Given the description of an element on the screen output the (x, y) to click on. 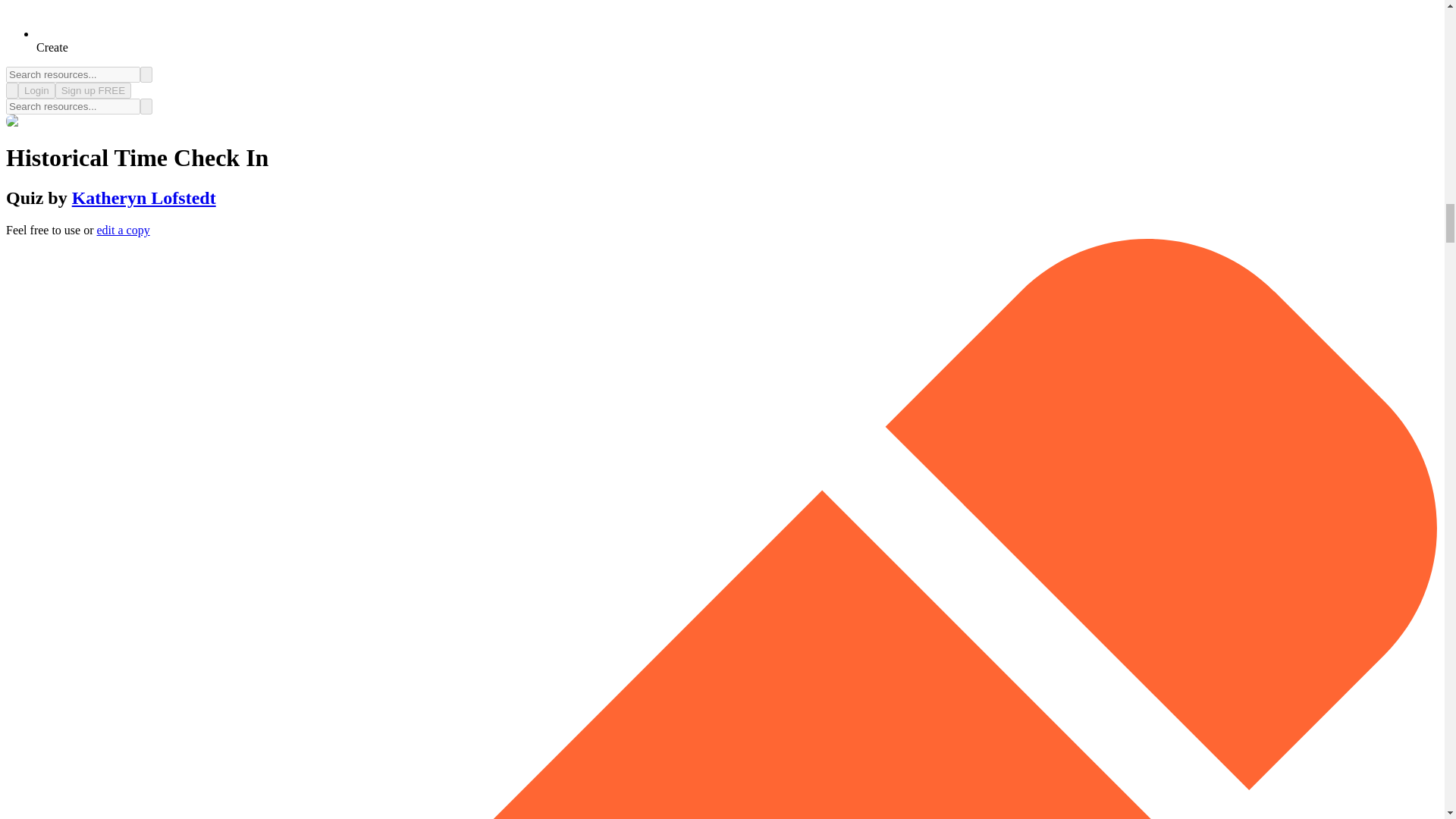
Sign up FREE (93, 90)
Login (36, 90)
Katheryn Lofstedt (143, 198)
